Given the description of an element on the screen output the (x, y) to click on. 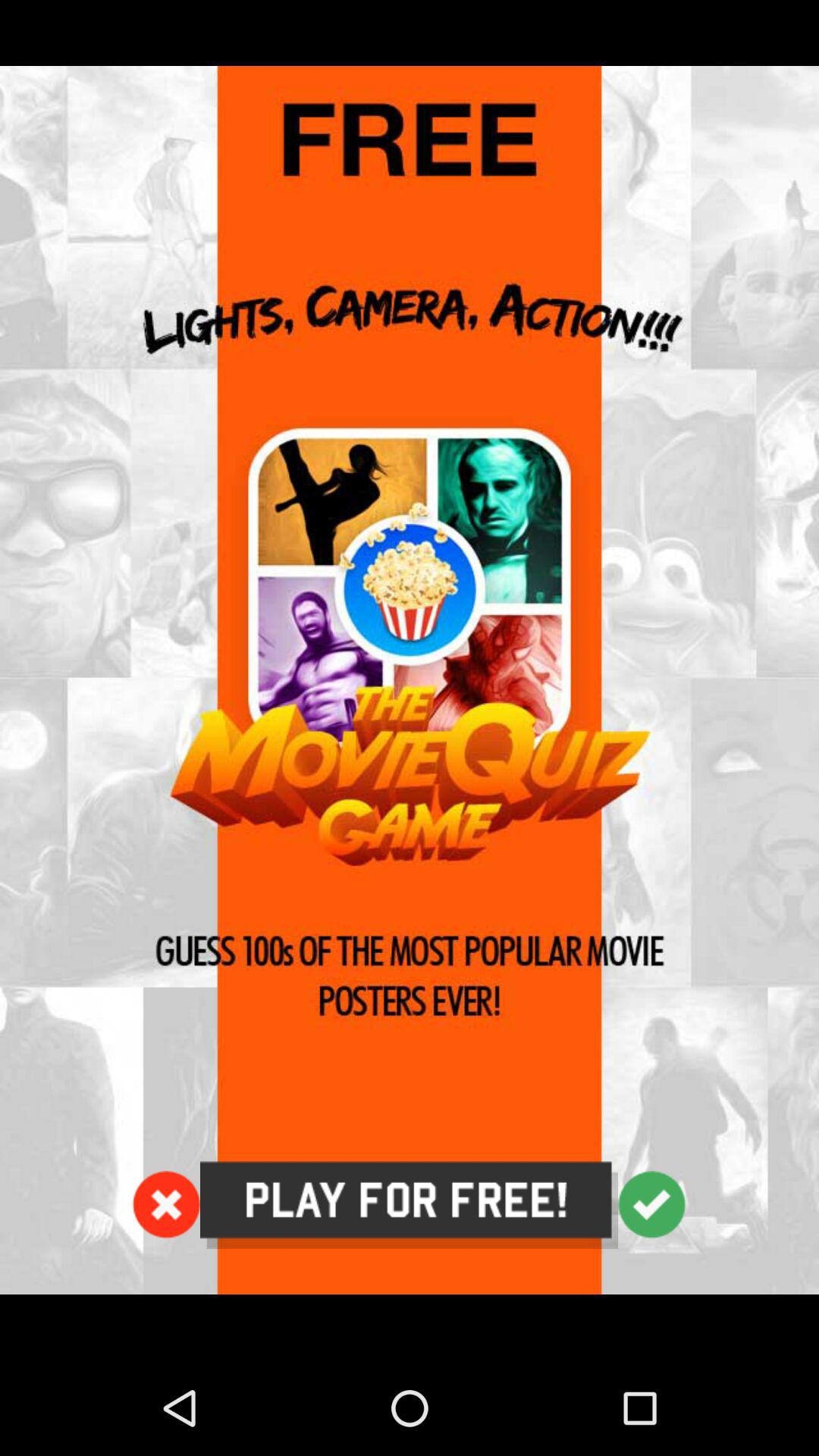
launch gameplay (409, 679)
